Given the description of an element on the screen output the (x, y) to click on. 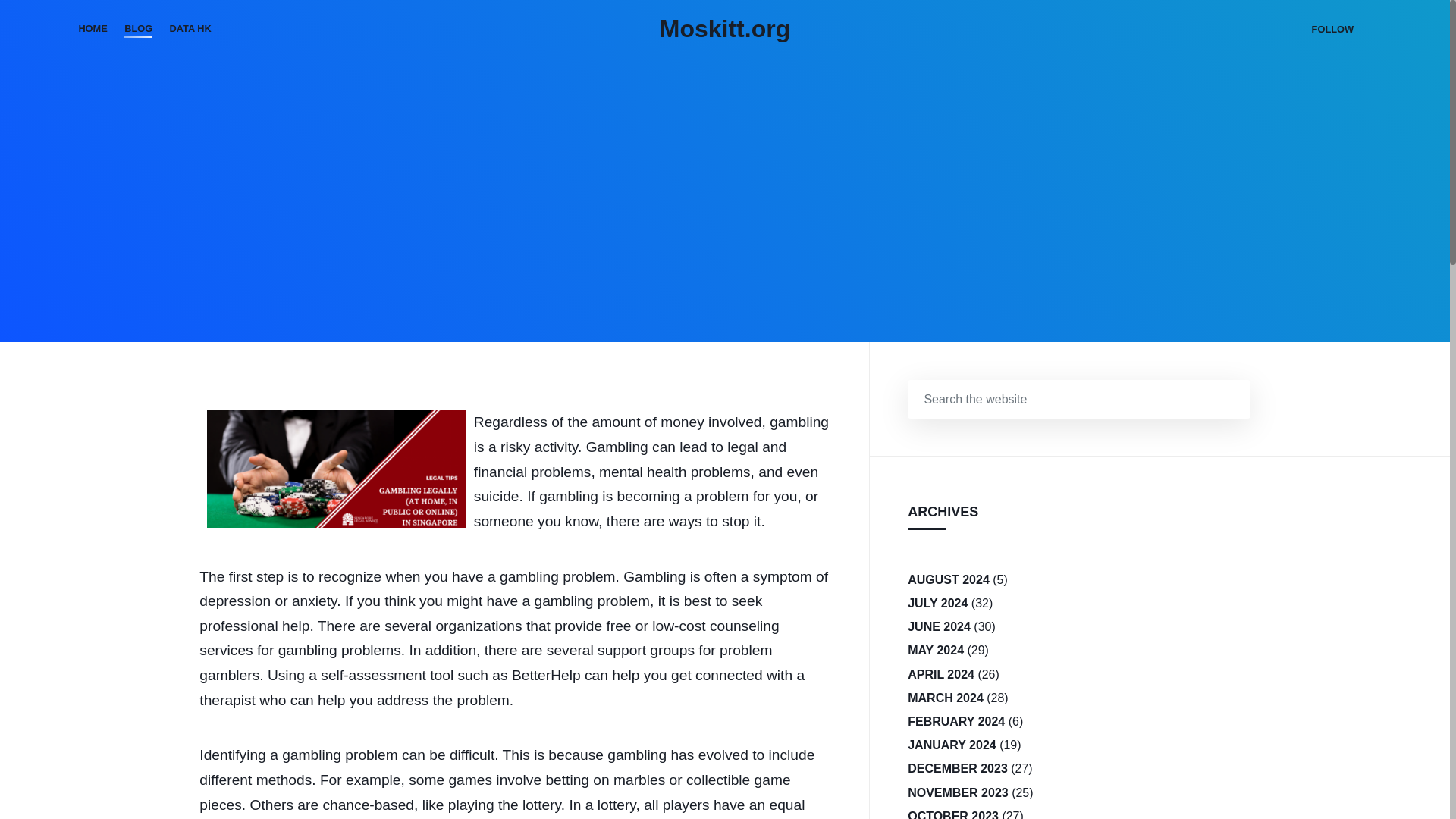
DECEMBER 2023 (957, 768)
MARCH 2024 (945, 698)
FEBRUARY 2024 (955, 721)
JUNE 2024 (939, 626)
DATA HK (189, 28)
Moskitt.org (724, 28)
FOLLOW (1332, 29)
DATA HK (189, 28)
JANUARY 2024 (951, 744)
NOVEMBER 2023 (958, 792)
